Given the description of an element on the screen output the (x, y) to click on. 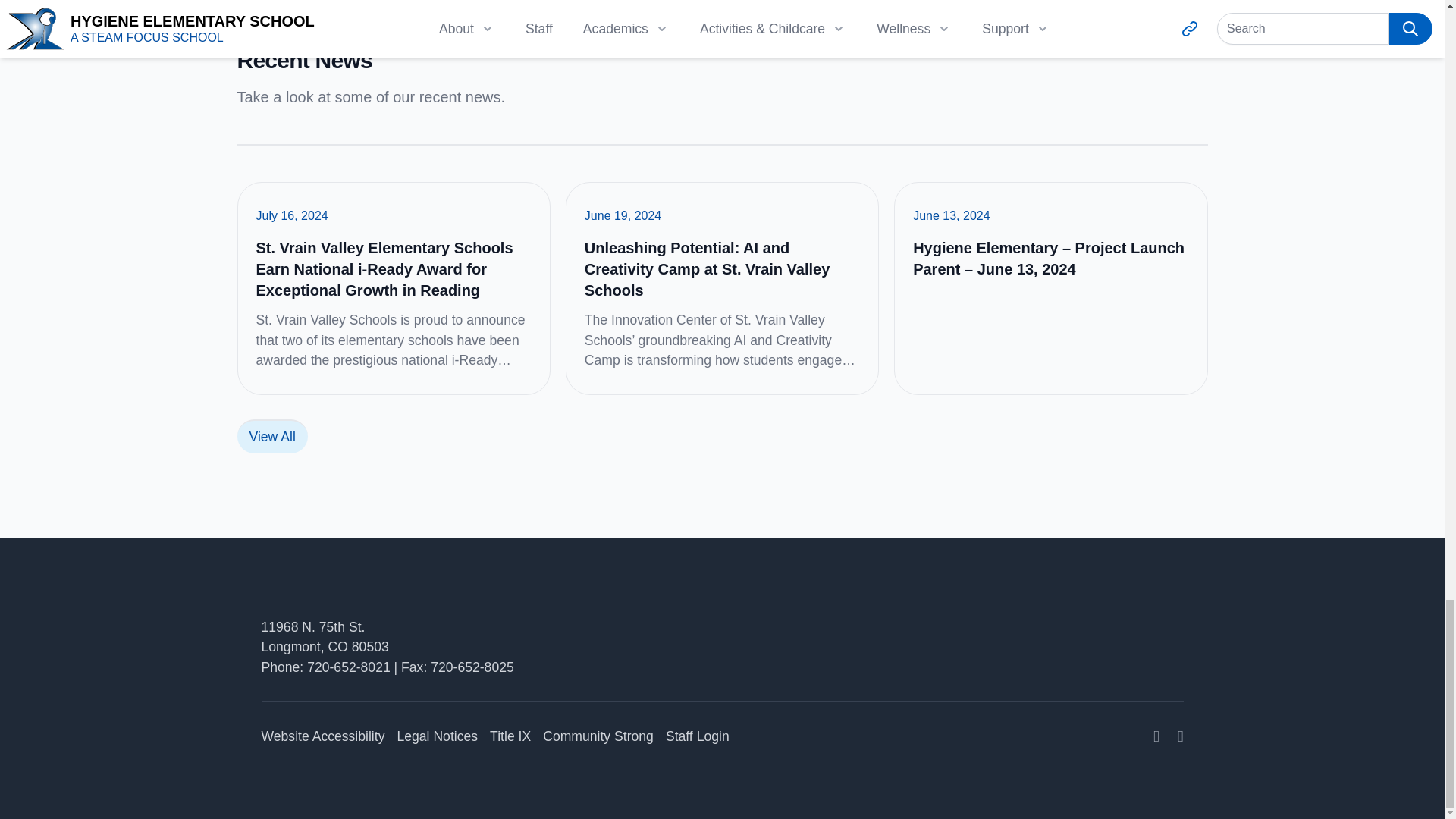
Follow us on Facebook (1180, 736)
Follow us on Twitter (1155, 736)
